Given the description of an element on the screen output the (x, y) to click on. 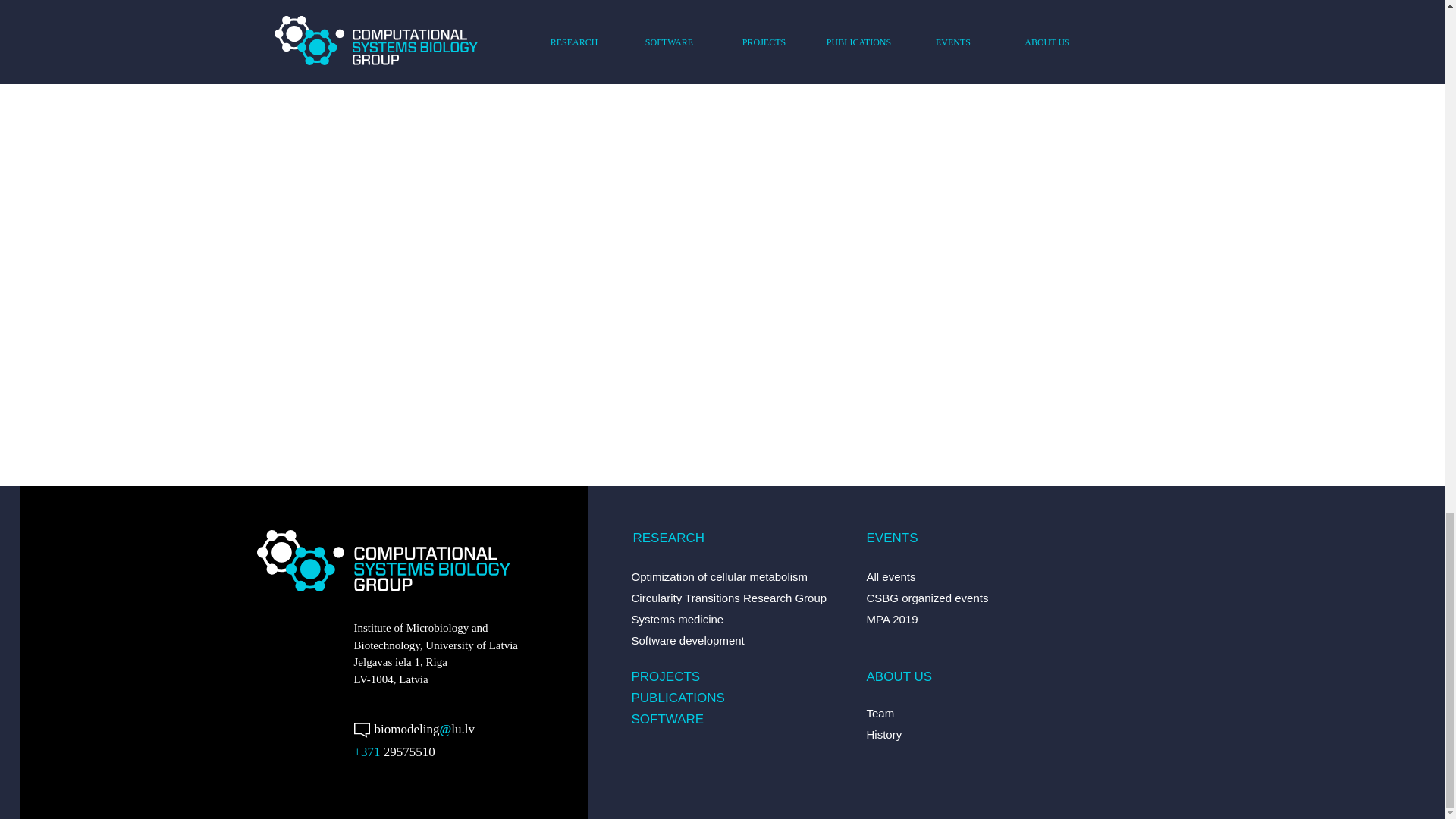
biomodeling (406, 728)
29575510 (409, 751)
lu.lv (462, 728)
